Given the description of an element on the screen output the (x, y) to click on. 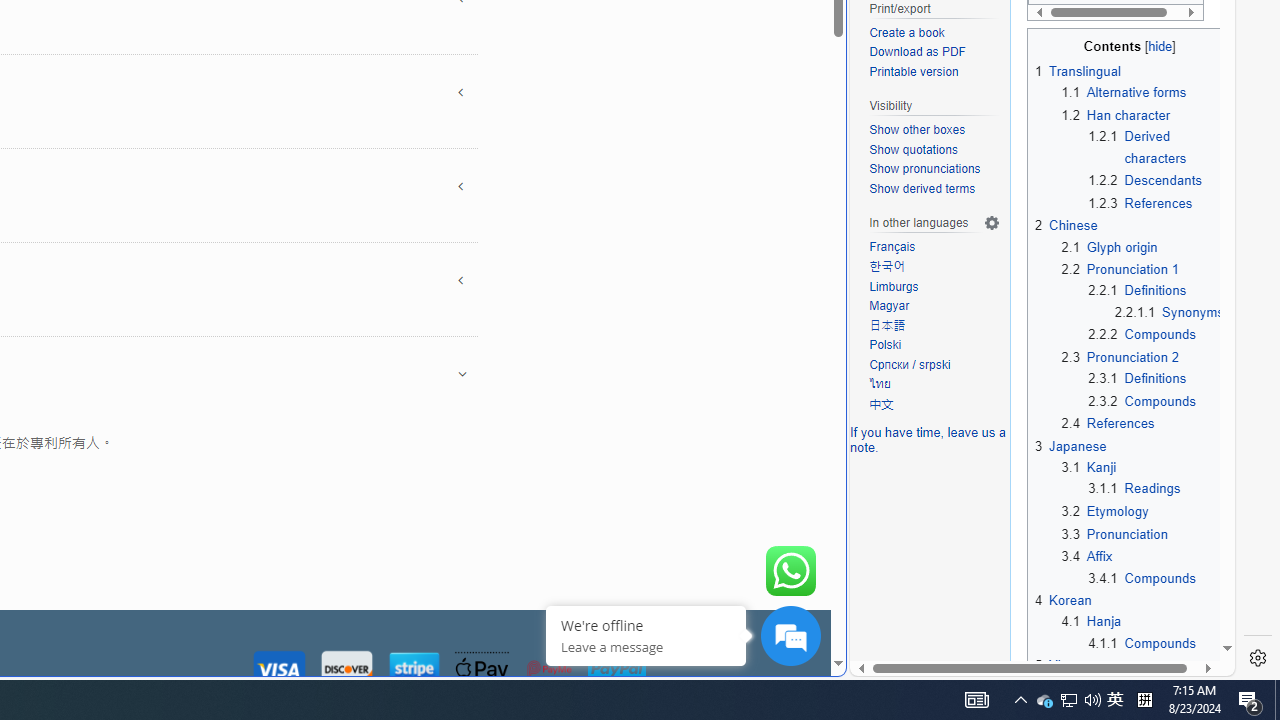
2 Chinese (1066, 225)
3.1.1 Readings (1134, 488)
